Given the description of an element on the screen output the (x, y) to click on. 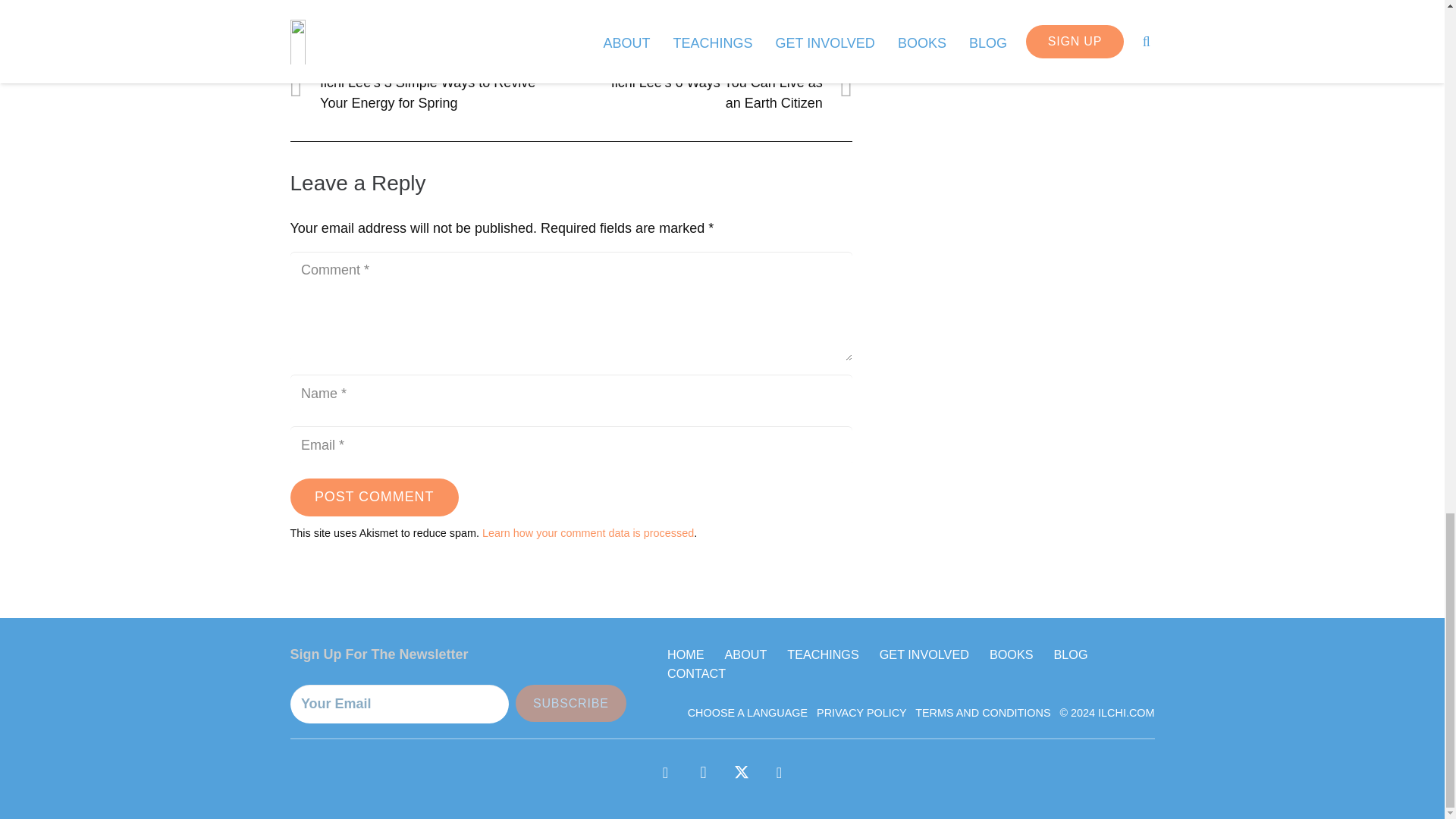
Learn how your comment data is processed (587, 532)
Twitter (741, 771)
YouTube (778, 771)
POST COMMENT (373, 497)
Facebook (665, 771)
Subscribe (570, 702)
Instagram (703, 771)
